Given the description of an element on the screen output the (x, y) to click on. 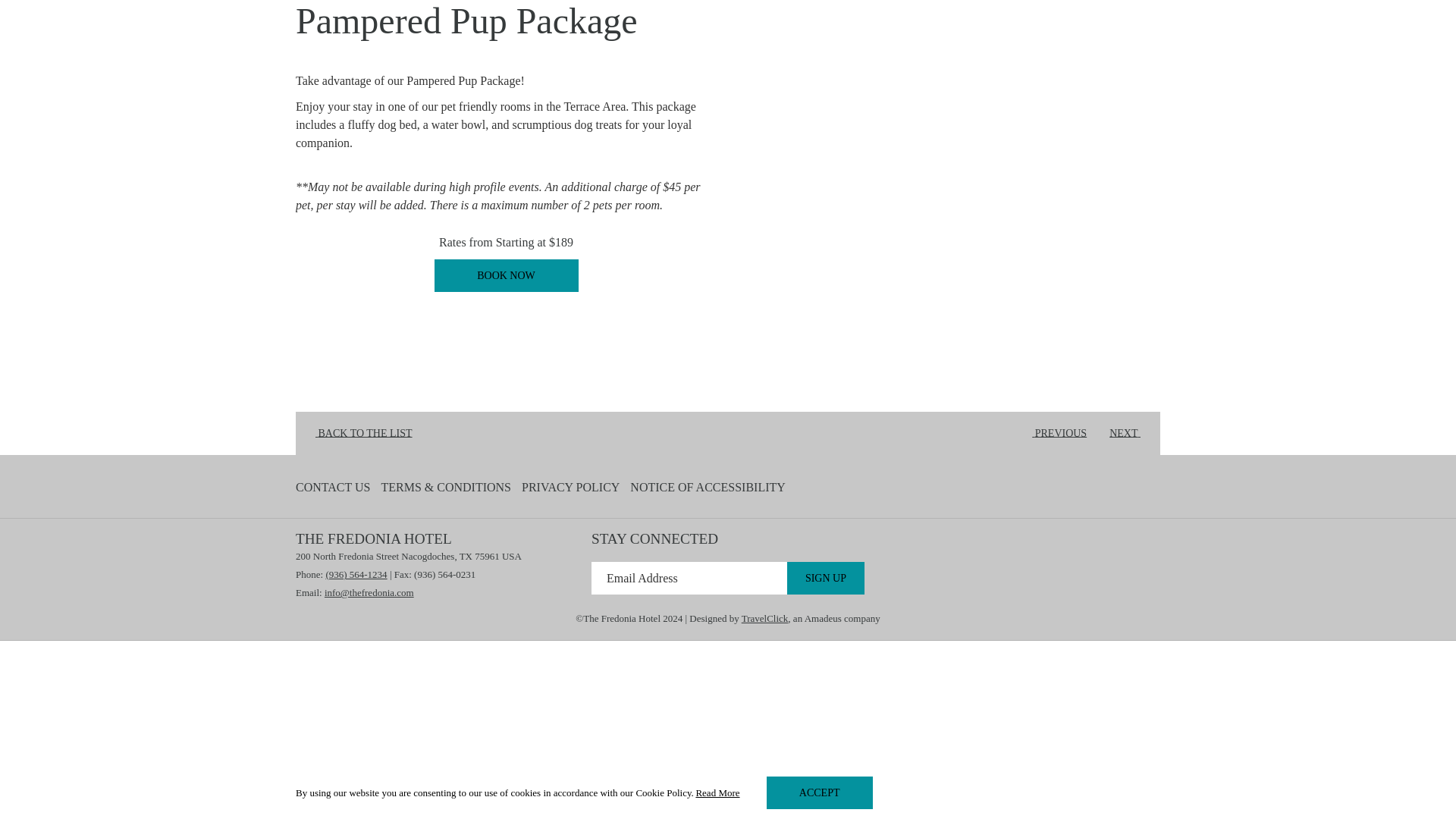
TravelClick (765, 618)
CONTACT US (332, 487)
PREVIOUS (1053, 433)
SIGN UP (825, 577)
NEXT (1129, 433)
BACK TO THE LIST (358, 433)
PRIVACY POLICY (570, 487)
NOTICE OF ACCESSIBILITY (505, 275)
